Given the description of an element on the screen output the (x, y) to click on. 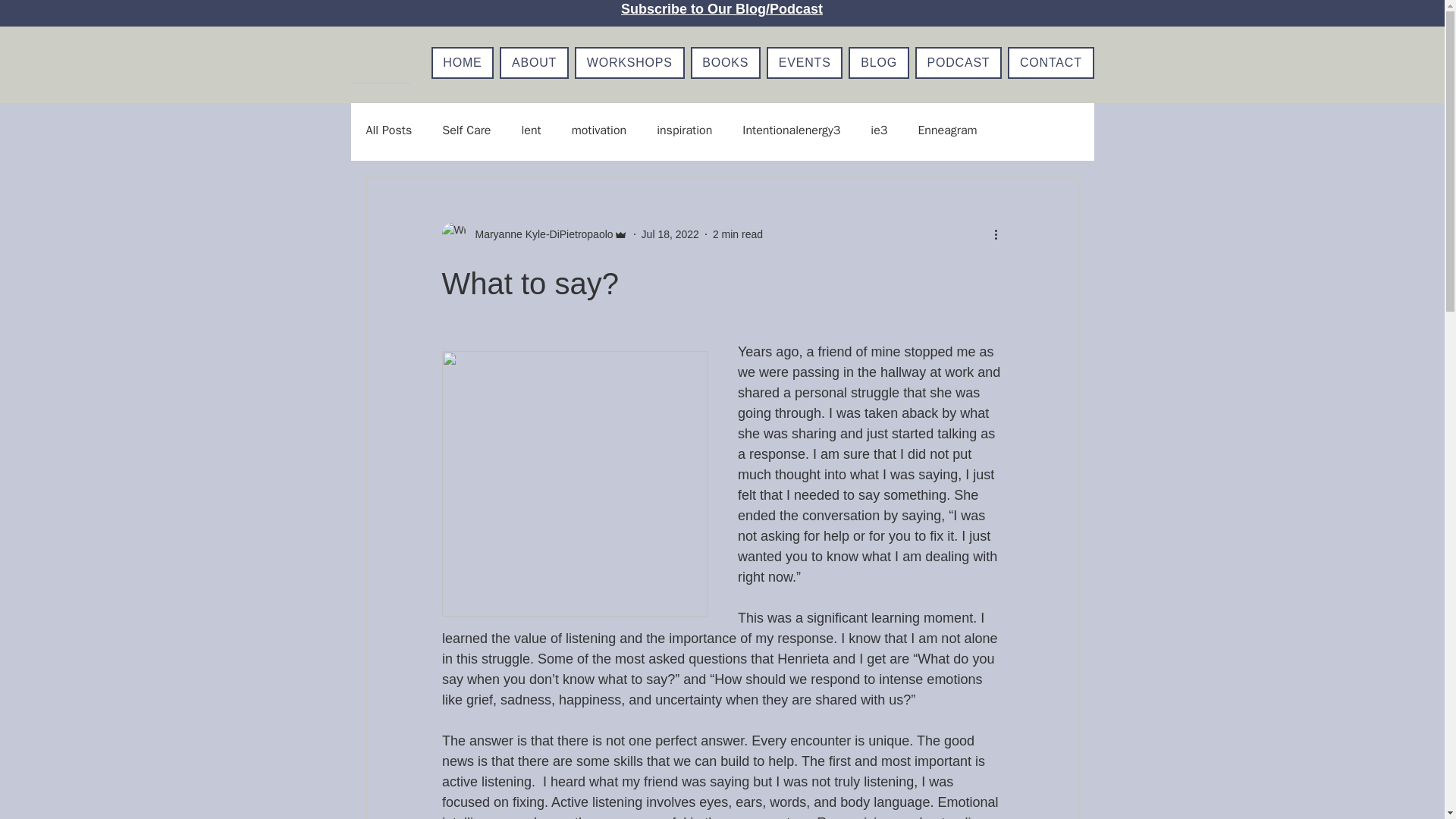
BLOG (878, 62)
inspiration (683, 130)
ABOUT (534, 62)
Self Care (466, 130)
HOME (461, 62)
lent (530, 130)
BOOKS (725, 62)
CONTACT (1050, 62)
Enneagram (946, 130)
2 min read (737, 233)
